Given the description of an element on the screen output the (x, y) to click on. 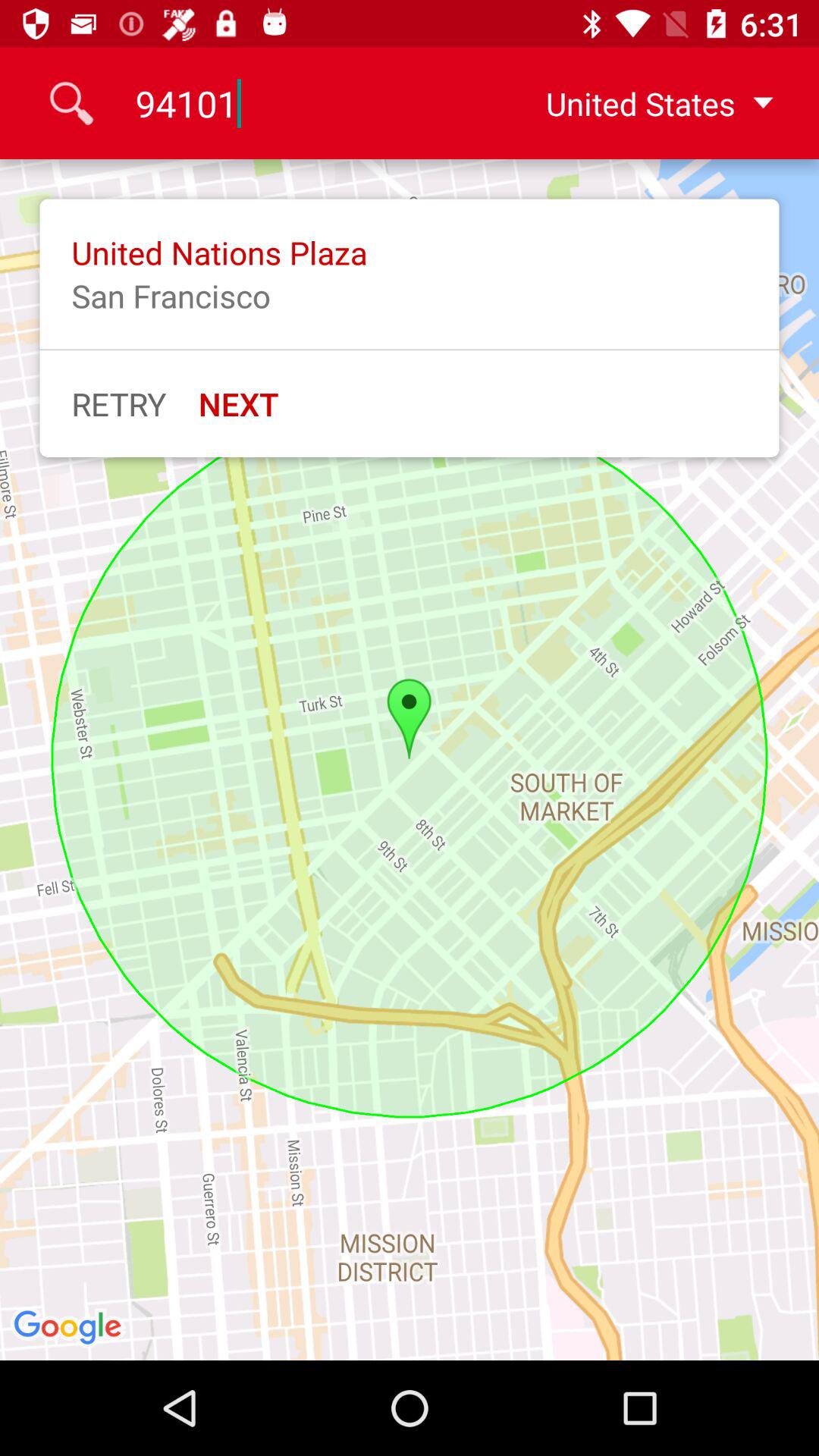
launch icon next to retry (238, 403)
